Given the description of an element on the screen output the (x, y) to click on. 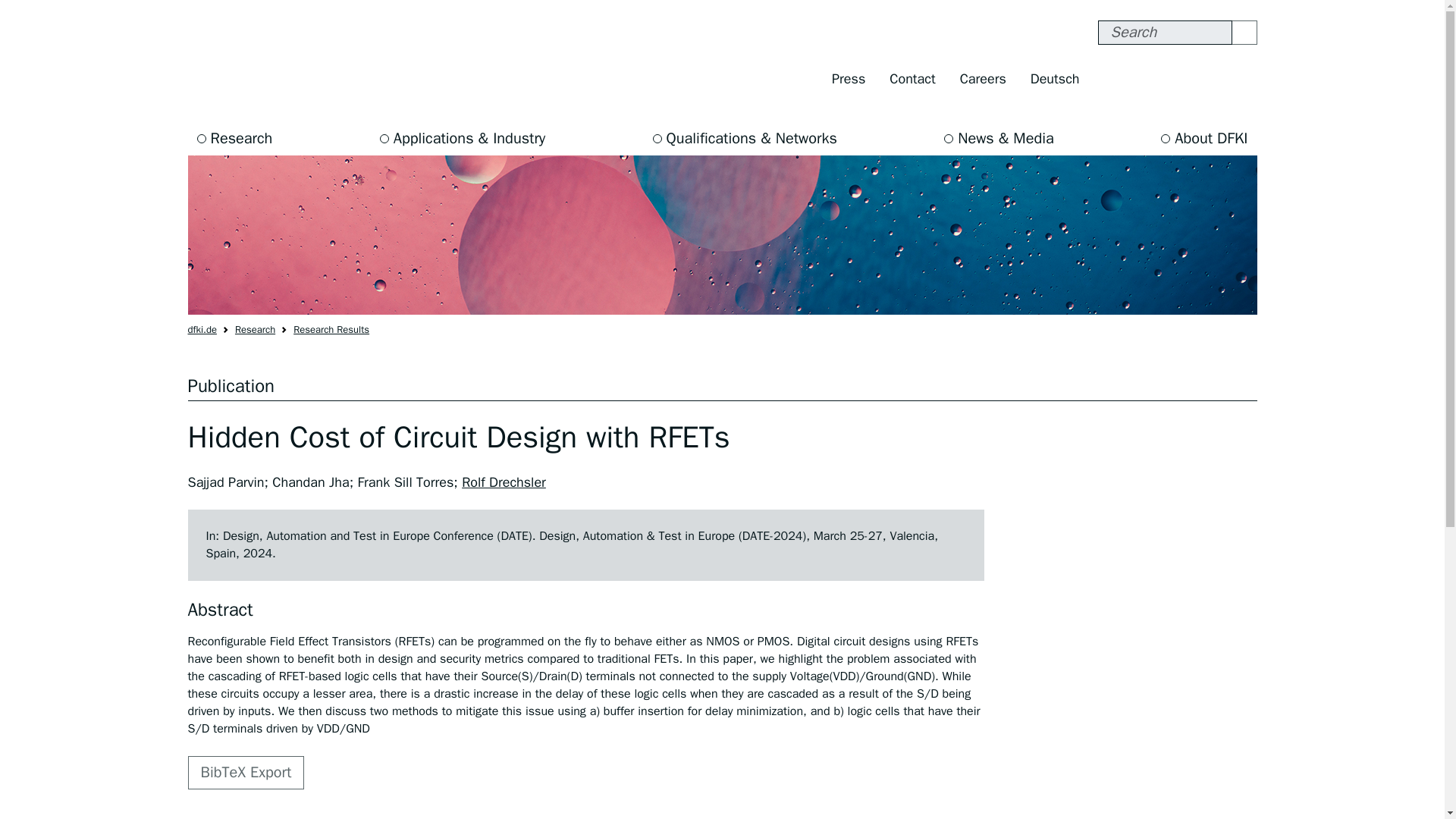
Careers (982, 79)
Follow us on: Youtube (1209, 79)
Follow us on: X (1177, 79)
Research (234, 138)
Follow us on: Facebook (1113, 79)
Follow us on: Instagram (1145, 79)
Press (848, 79)
Follow us on: Instagram (1145, 79)
Deutsch (1054, 79)
Translate to Deutsch (1054, 79)
Research (254, 328)
Follow us on: LinkedIn (1240, 79)
Research Results (331, 328)
Follow us on: Facebook (1113, 79)
Follow us on: X (1177, 79)
